Given the description of an element on the screen output the (x, y) to click on. 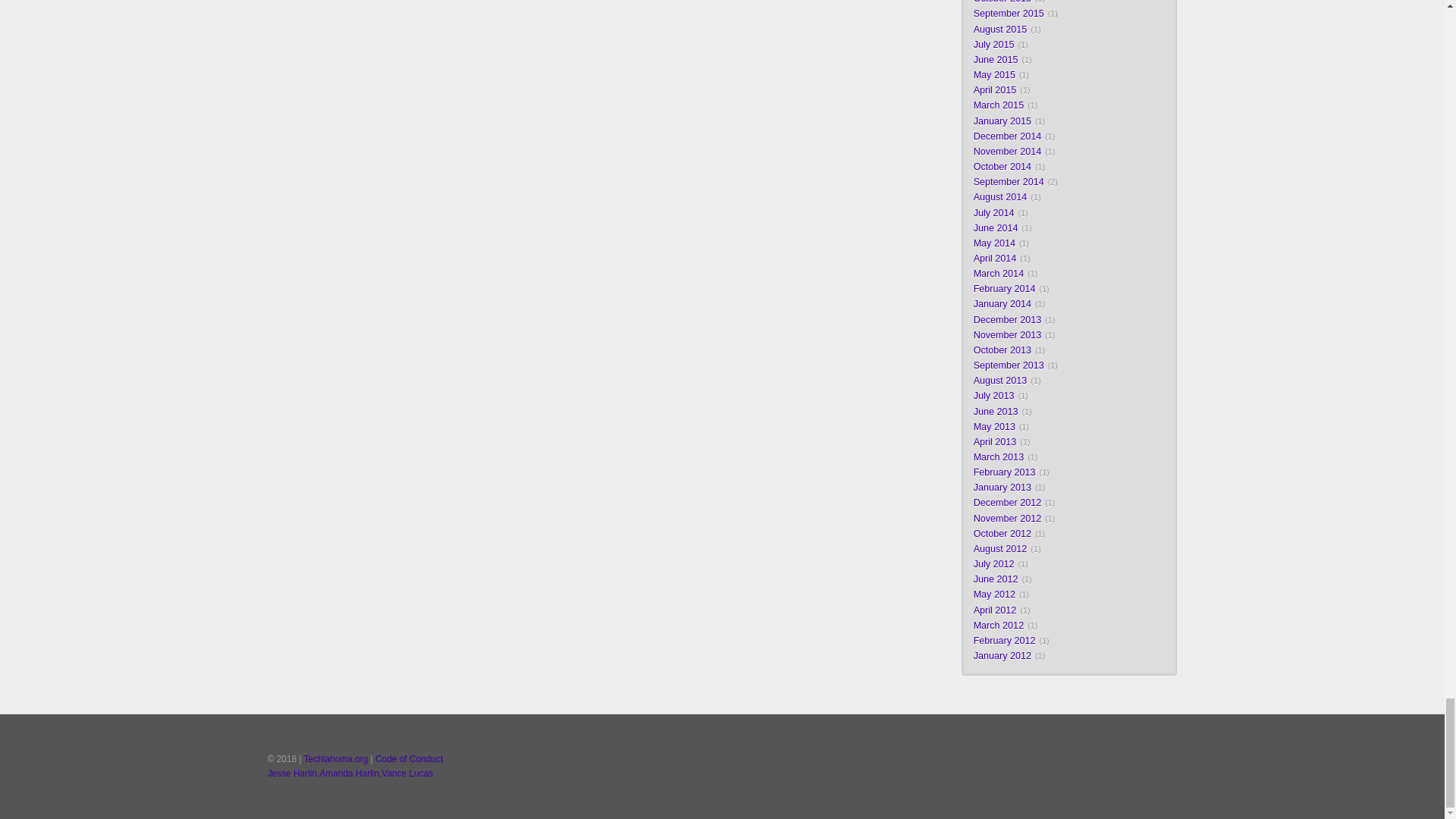
Jesse Harlin,Amanda Harlin,Vance Lucas (350, 773)
